Given the description of an element on the screen output the (x, y) to click on. 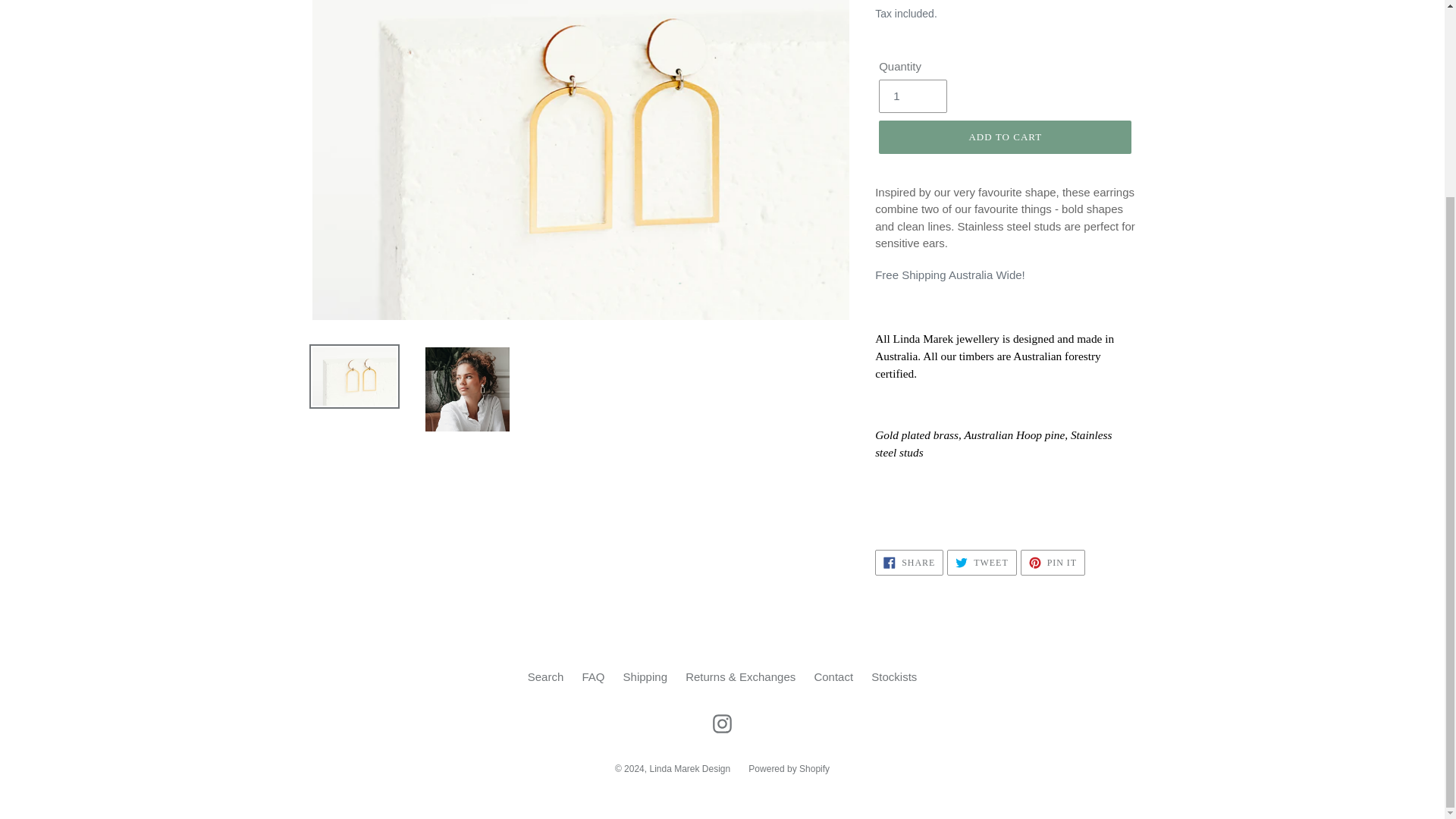
Powered by Shopify (909, 562)
Shipping (981, 562)
Linda Marek Design (788, 768)
FAQ (644, 676)
Search (689, 768)
Contact (592, 676)
1 (545, 676)
